Given the description of an element on the screen output the (x, y) to click on. 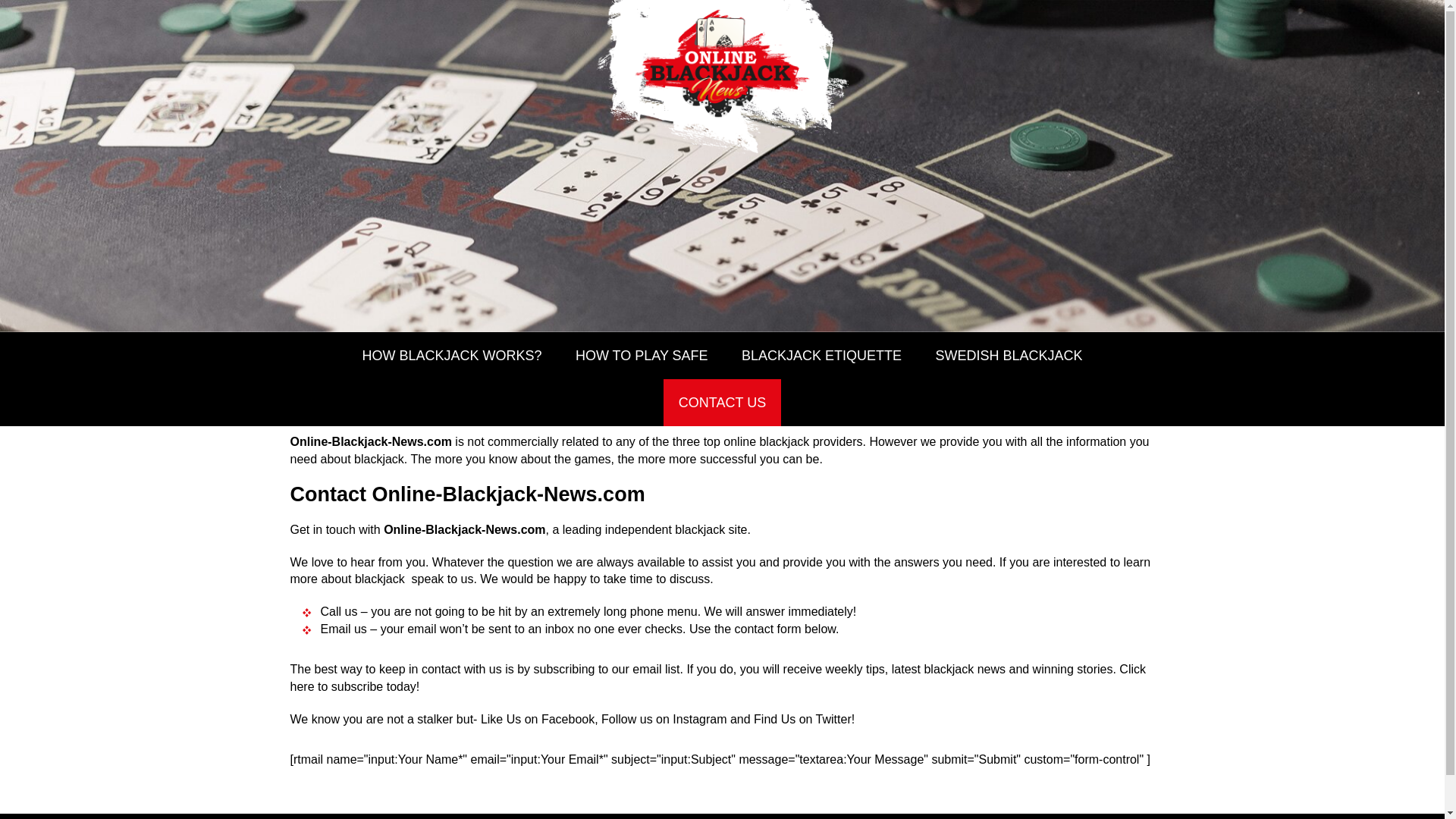
How Blackjack Works? (451, 355)
SWEDISH BLACKJACK (1008, 355)
How to play safe (641, 355)
CONTACT US (721, 402)
Contact Us (721, 402)
BLACKJACK ETIQUETTE (821, 355)
Swedish Blackjack (1008, 355)
HOW BLACKJACK WORKS? (451, 355)
HOW TO PLAY SAFE (641, 355)
Blackjack Etiquette (821, 355)
